Given the description of an element on the screen output the (x, y) to click on. 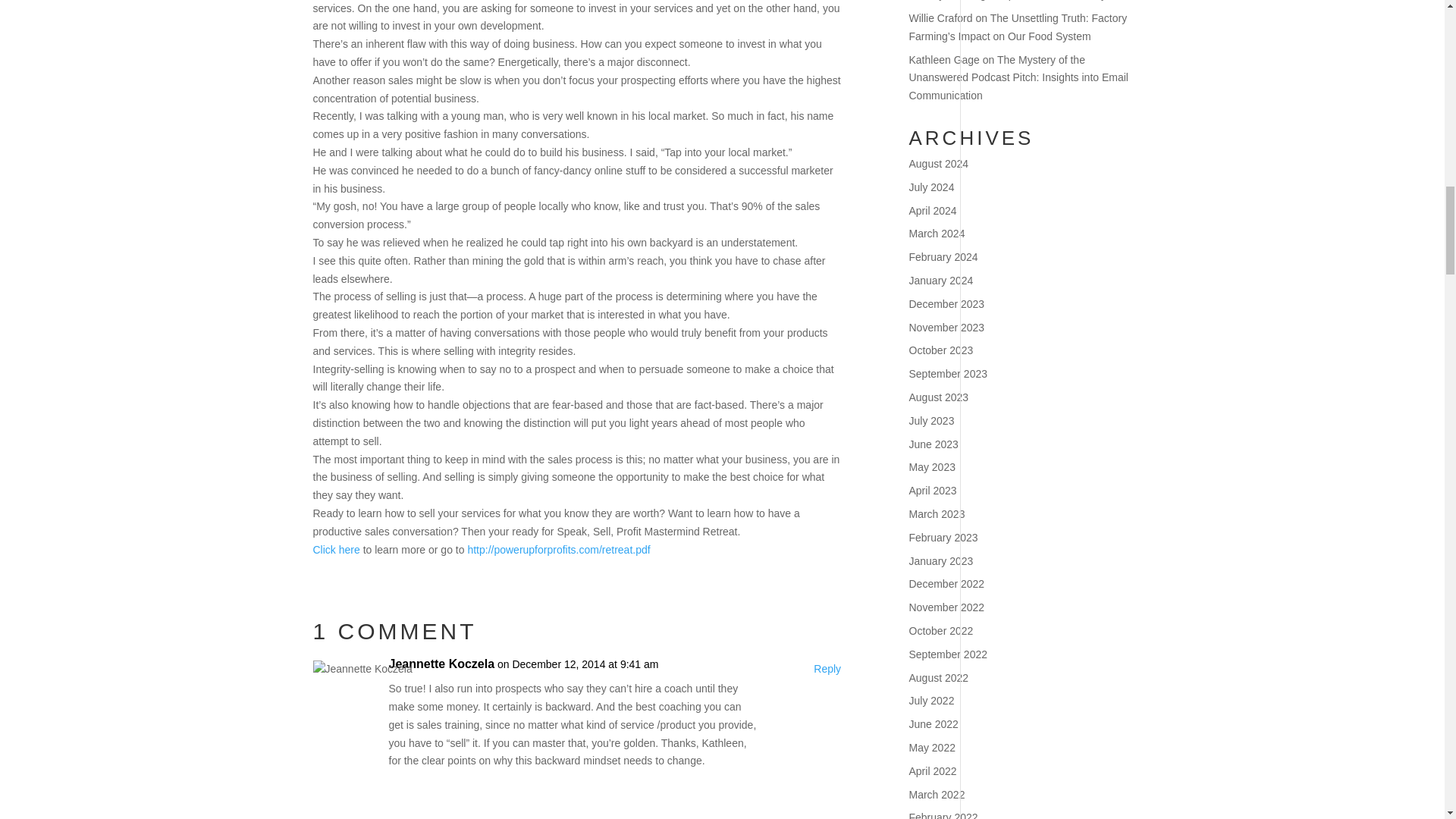
Reply (827, 669)
Click here (336, 549)
Jeannette Koczela (441, 664)
